Given the description of an element on the screen output the (x, y) to click on. 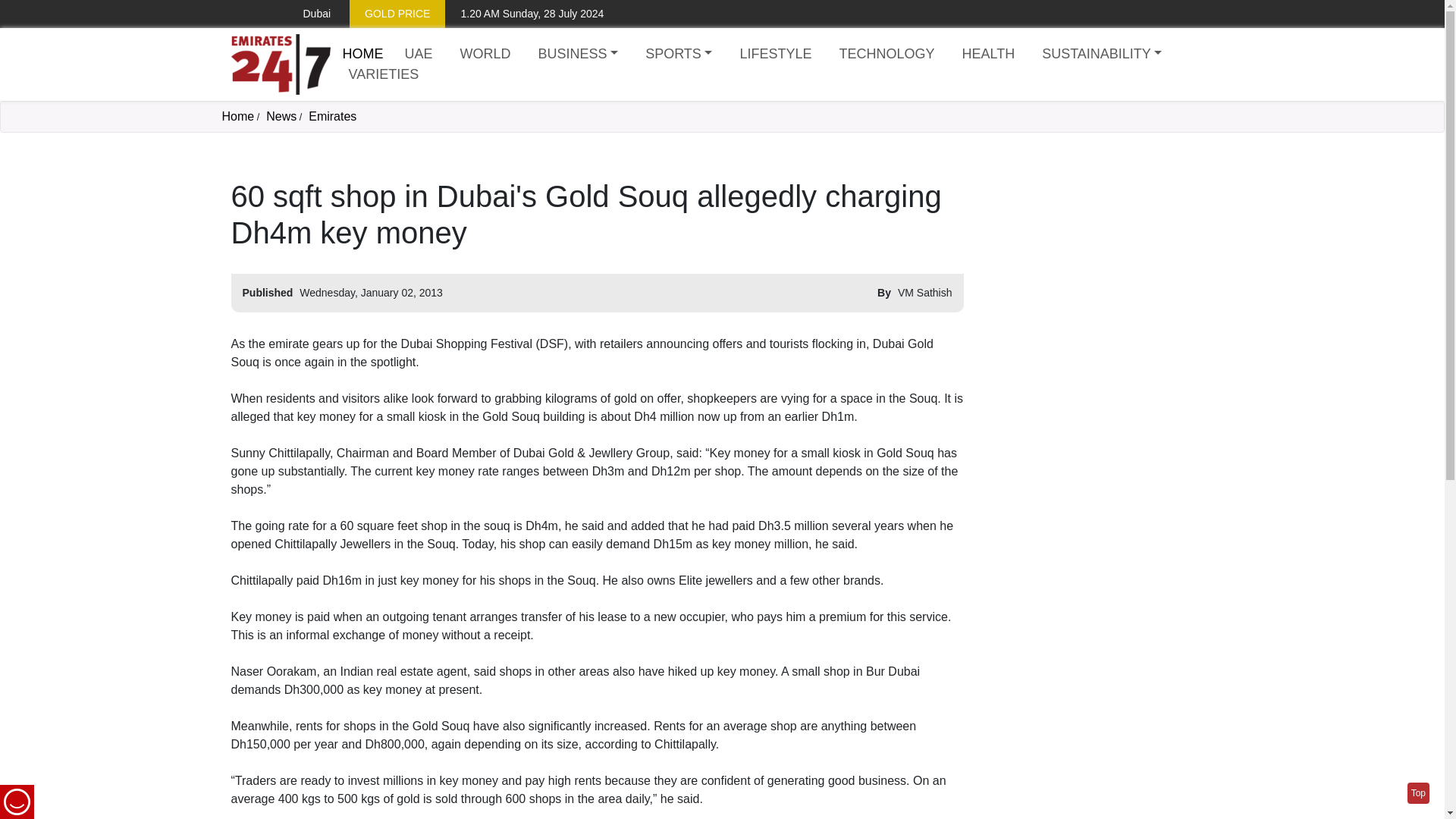
BUSINESS (578, 54)
News (281, 115)
Go to top (1418, 792)
Home (363, 53)
Dubai (305, 13)
LIFESTYLE (774, 54)
Emirates (332, 115)
WORLD (485, 54)
HEALTH (987, 54)
HOME (363, 53)
VARIETIES (383, 74)
UAE (418, 54)
GOLD PRICE (397, 13)
Home (280, 64)
SPORTS (678, 54)
